Given the description of an element on the screen output the (x, y) to click on. 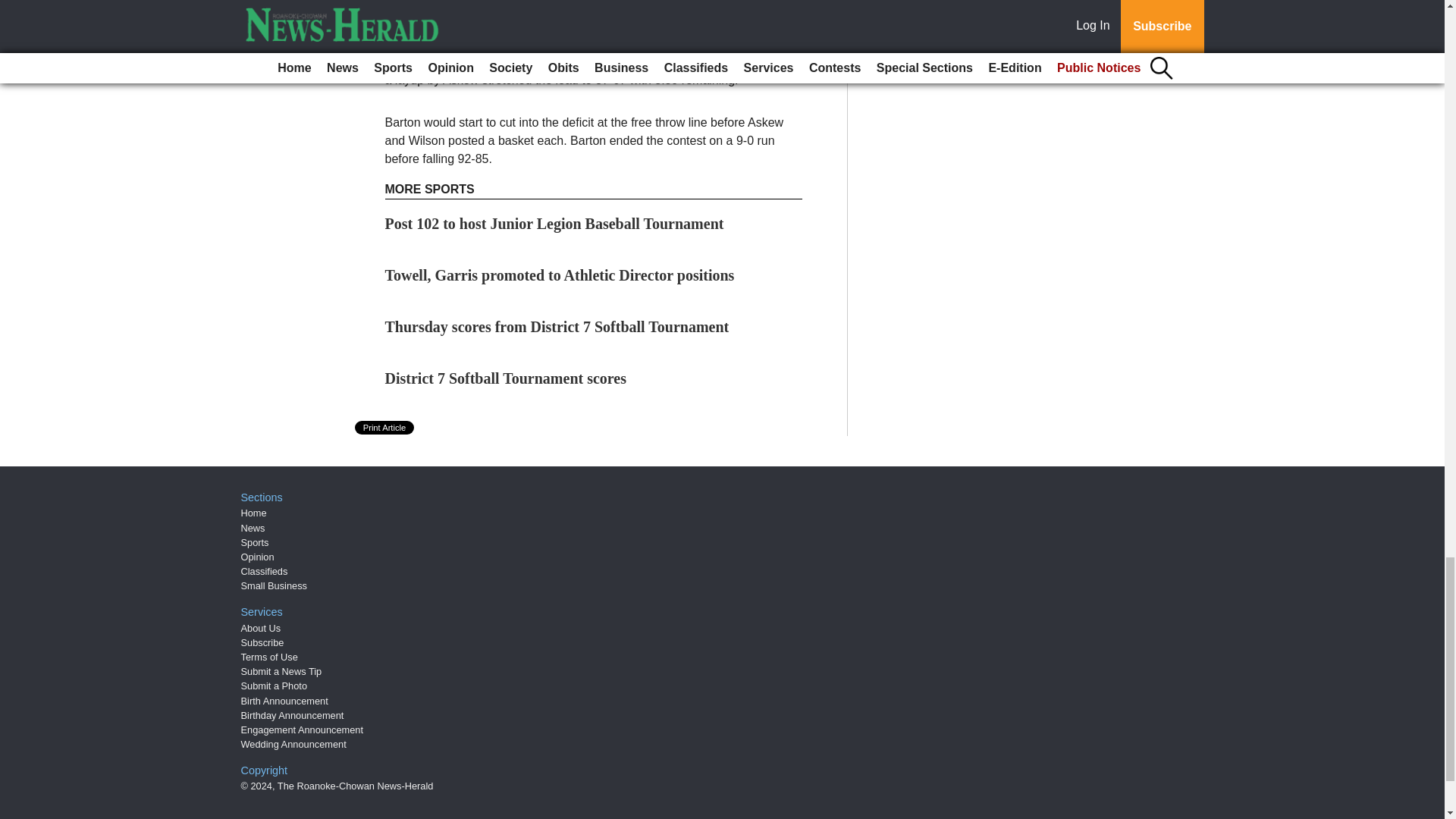
District 7 Softball Tournament scores (506, 378)
Post 102 to host Junior Legion Baseball Tournament (554, 223)
Towell, Garris promoted to Athletic Director positions (560, 274)
District 7 Softball Tournament scores (506, 378)
Towell, Garris promoted to Athletic Director positions (560, 274)
Post 102 to host Junior Legion Baseball Tournament (554, 223)
Thursday scores from District 7 Softball Tournament (557, 326)
Thursday scores from District 7 Softball Tournament (557, 326)
